Given the description of an element on the screen output the (x, y) to click on. 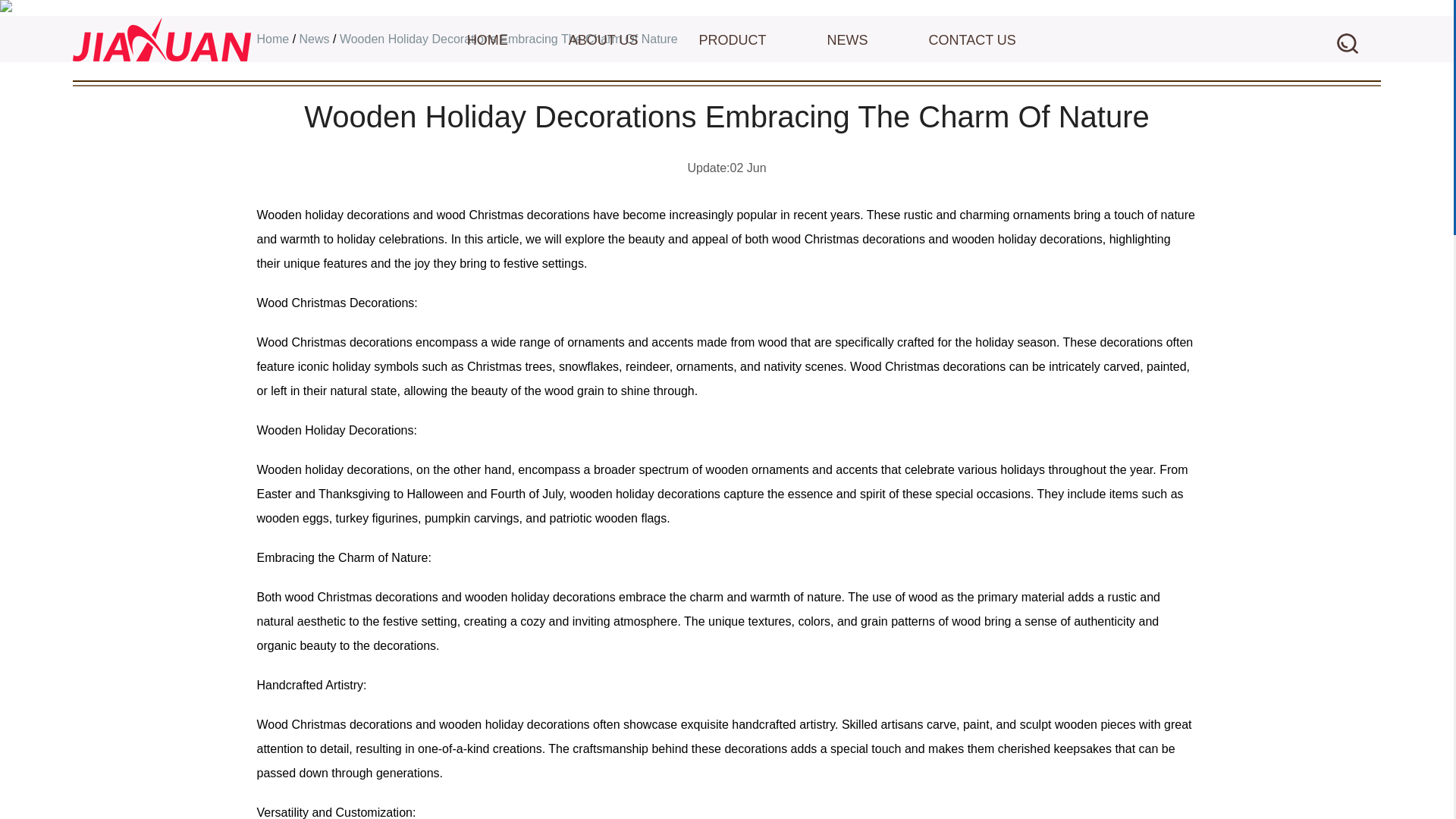
Taizhou Jiaxuan Industry and Trade Co.,Ltd. (161, 39)
CONTACT US (971, 40)
PRODUCT (732, 40)
HOME (487, 40)
ABOUT US (604, 40)
NEWS (847, 40)
